Given the description of an element on the screen output the (x, y) to click on. 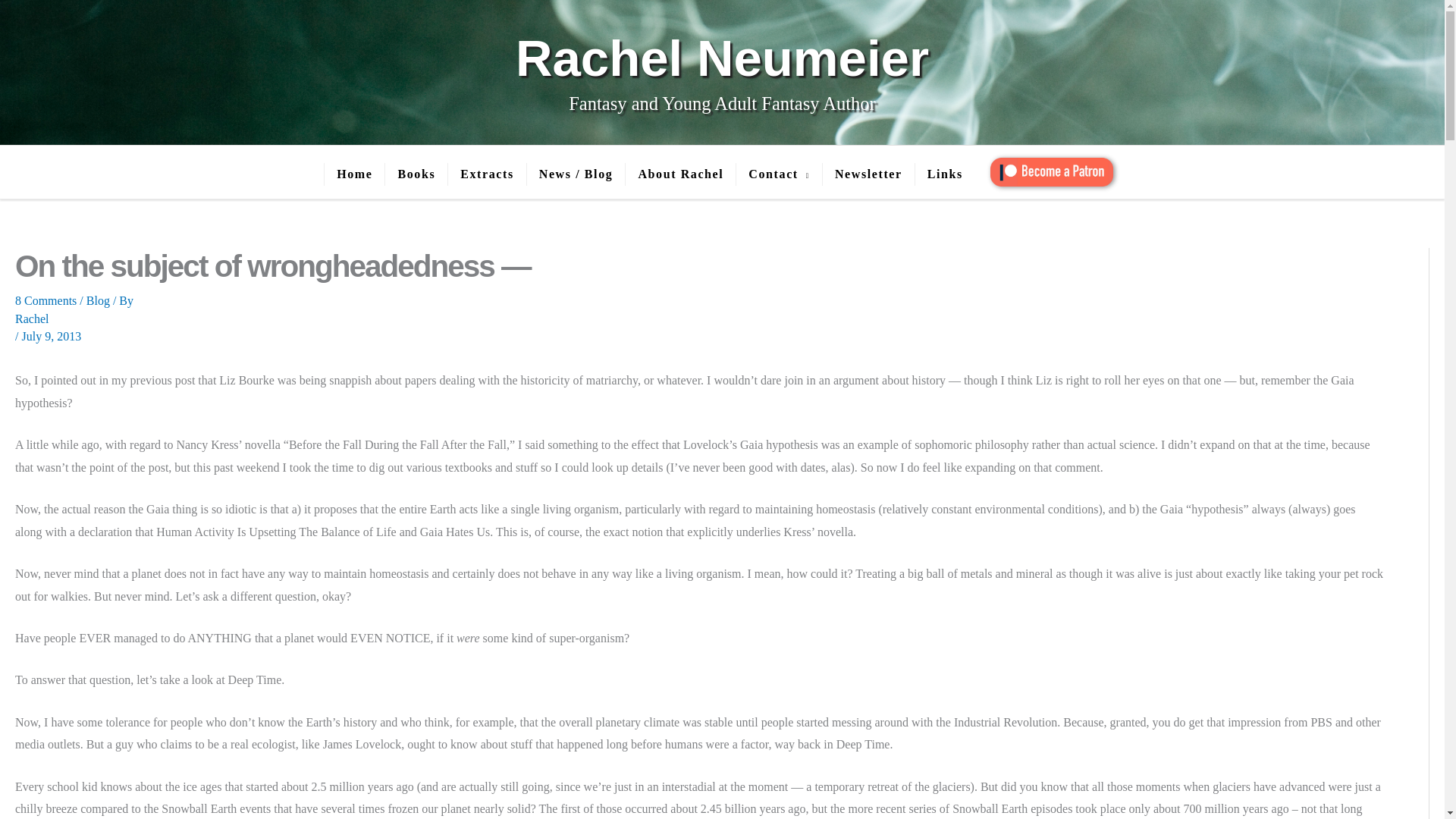
8 Comments (45, 300)
Rachel Neumeier (721, 57)
Links (944, 173)
View all posts by Rachel (698, 318)
Rachel (698, 318)
Books (415, 173)
About Rachel (679, 173)
Home (353, 173)
Extracts (485, 173)
Contact (778, 173)
Newsletter (868, 173)
Blog (97, 300)
